Given the description of an element on the screen output the (x, y) to click on. 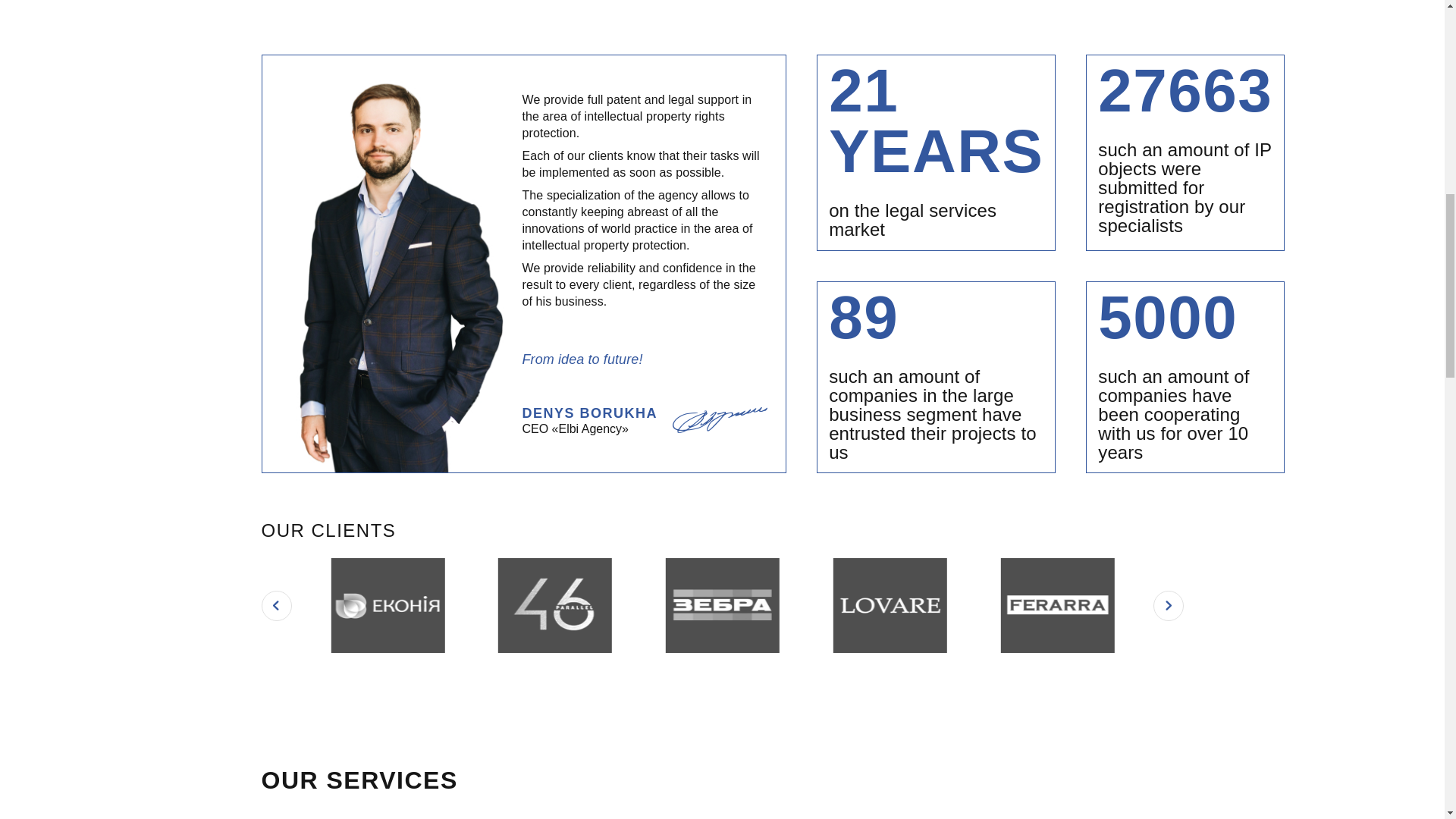
Show next (1167, 605)
Show previous (275, 605)
